Given the description of an element on the screen output the (x, y) to click on. 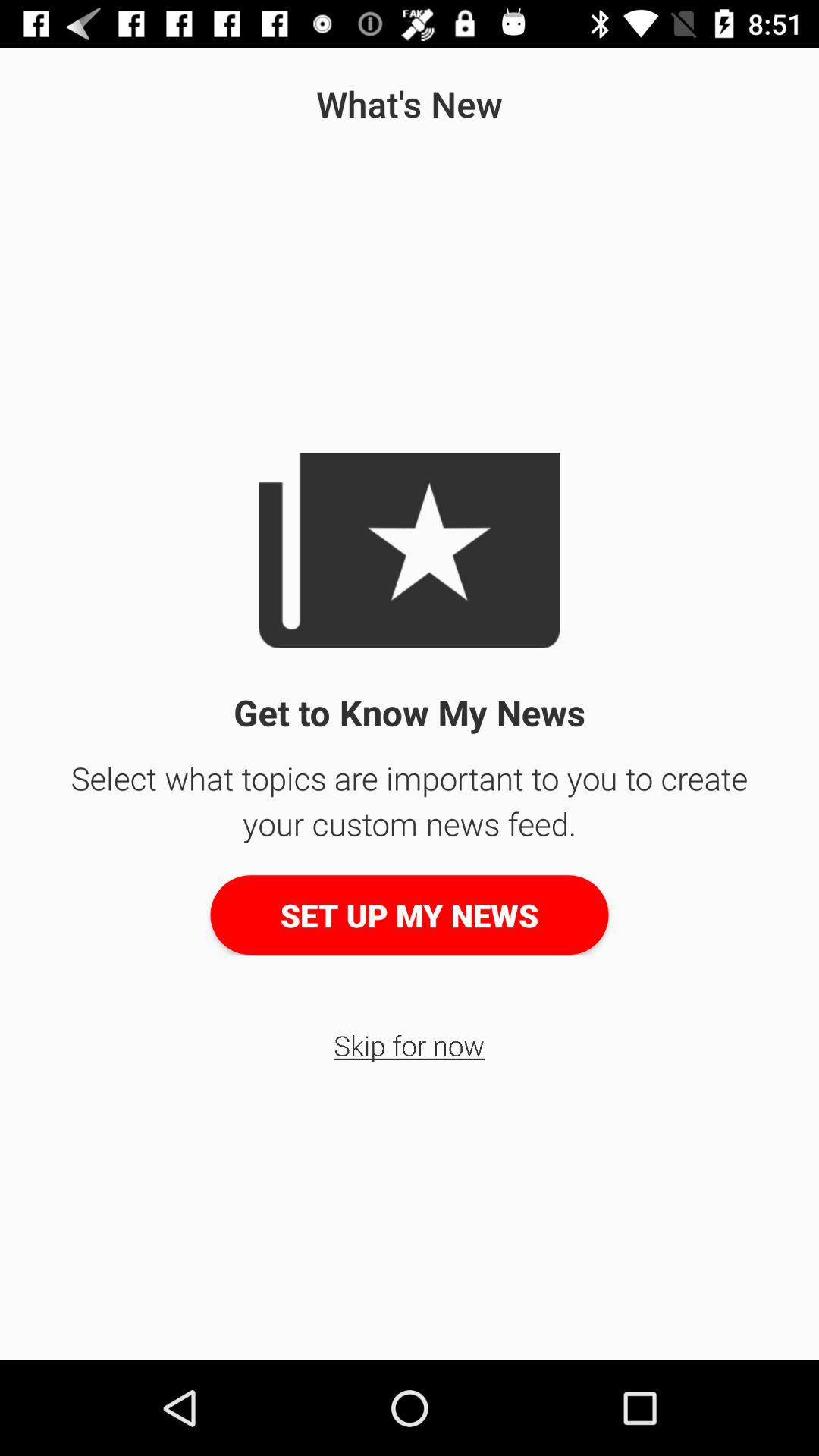
turn on the skip for now (409, 1044)
